Given the description of an element on the screen output the (x, y) to click on. 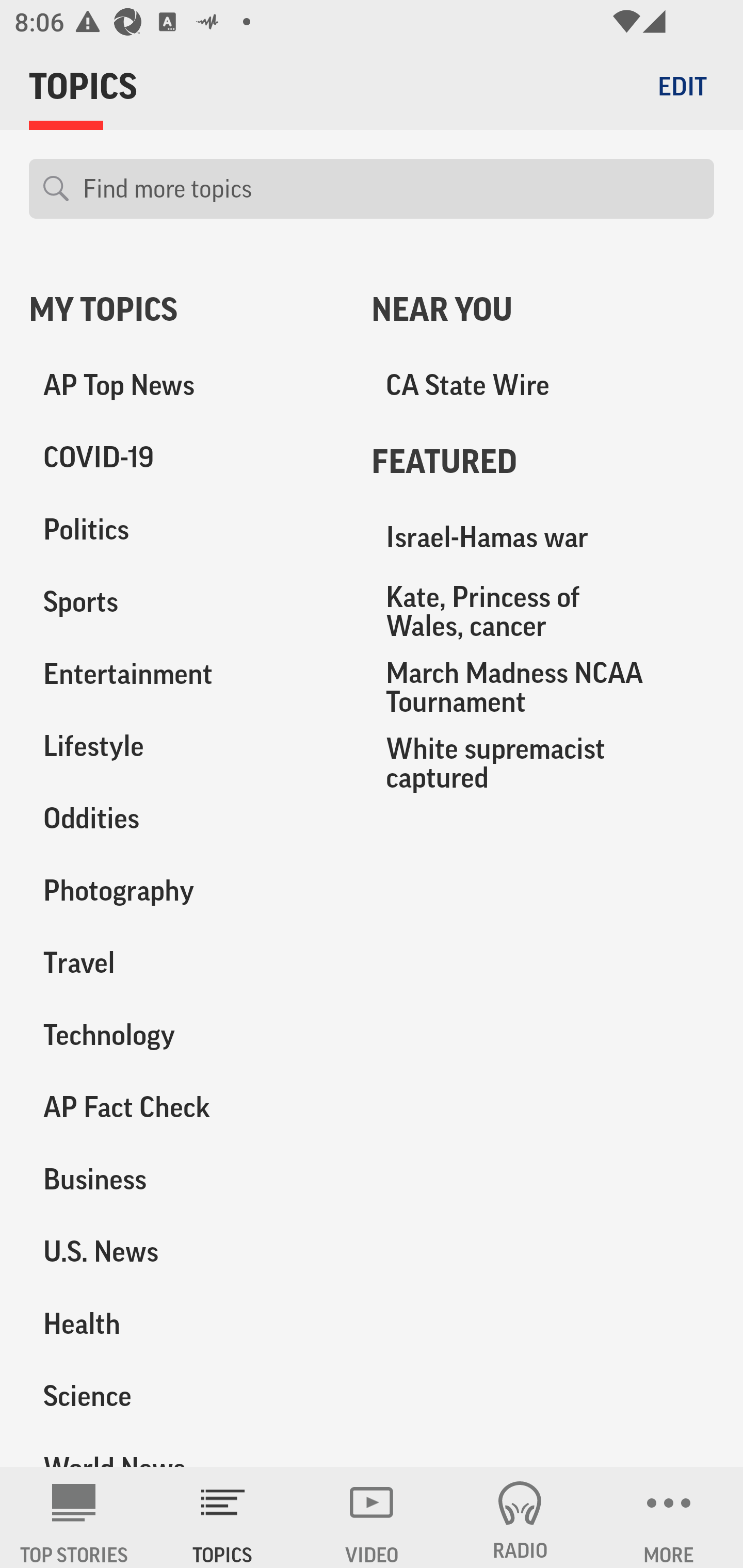
EDIT (682, 86)
Find more topics (391, 188)
AP Top News (185, 385)
CA State Wire (542, 385)
COVID-19 (185, 457)
Politics (185, 529)
Israel-Hamas war (542, 537)
Sports (185, 602)
Kate, Princess of Wales, cancer (542, 611)
Entertainment (185, 674)
March Madness NCAA Tournament (542, 686)
Lifestyle (185, 746)
White supremacist captured (542, 762)
Oddities (185, 818)
Photography (185, 890)
Travel (185, 962)
Technology (185, 1034)
AP Fact Check (185, 1106)
Business (185, 1179)
U.S. News (185, 1251)
Health (185, 1323)
Science (185, 1395)
AP News TOP STORIES (74, 1517)
TOPICS (222, 1517)
VIDEO (371, 1517)
RADIO (519, 1517)
MORE (668, 1517)
